Given the description of an element on the screen output the (x, y) to click on. 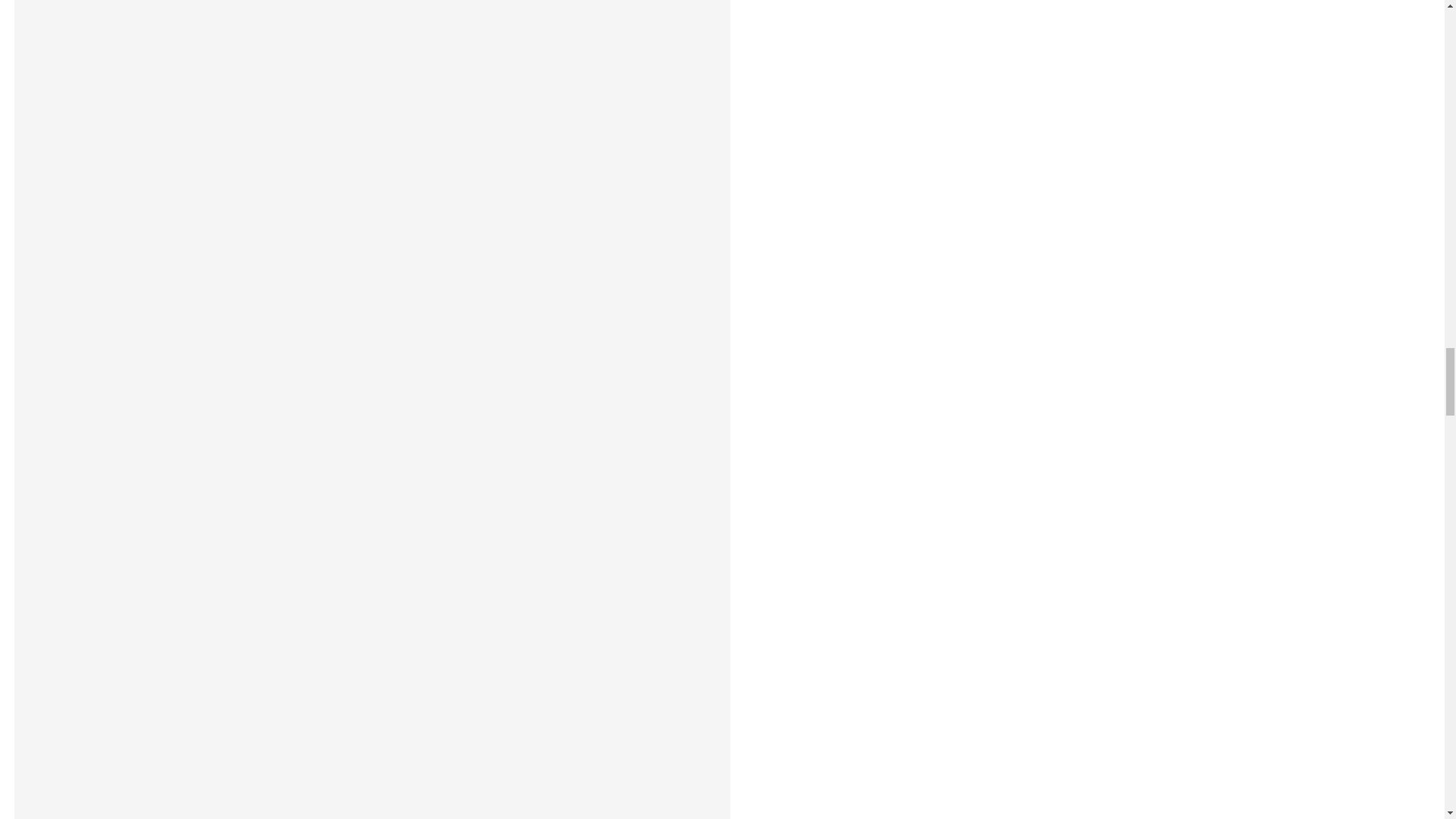
Courage: Eight Portraits (216, 70)
Iran May be the Greatest Crisis of Modern Times (372, 554)
